Given the description of an element on the screen output the (x, y) to click on. 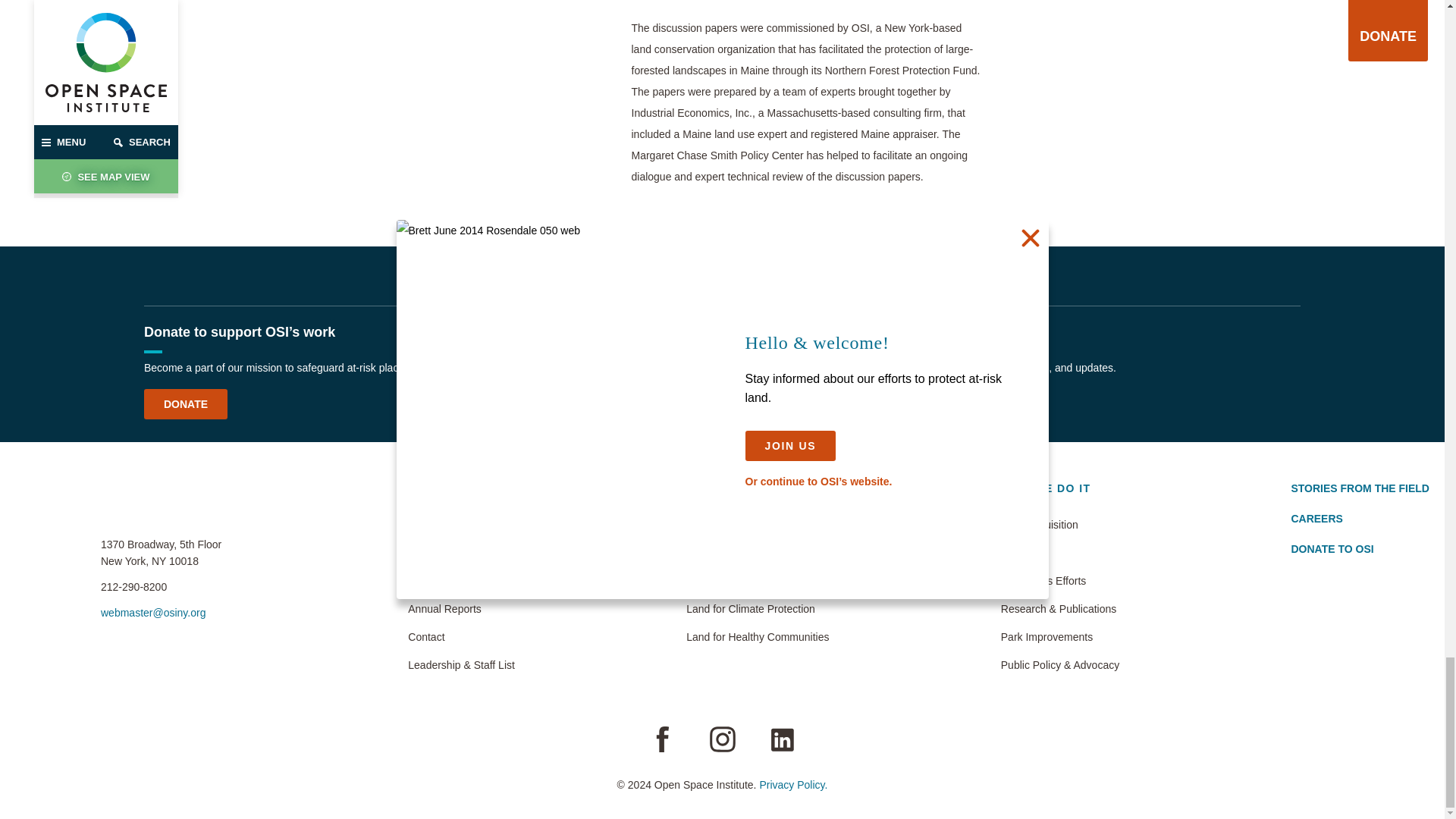
HOW WE DO IT (1045, 492)
Land for Healthy Communities (756, 636)
SUBSCRIBE (780, 404)
WHO WE ARE (448, 492)
WHAT WE PROTECT (745, 492)
Grassroots Efforts (1060, 580)
Land for Recreation (756, 524)
Land for Clean Water (756, 580)
Open Space Institute (124, 501)
Funding (1060, 552)
